Given the description of an element on the screen output the (x, y) to click on. 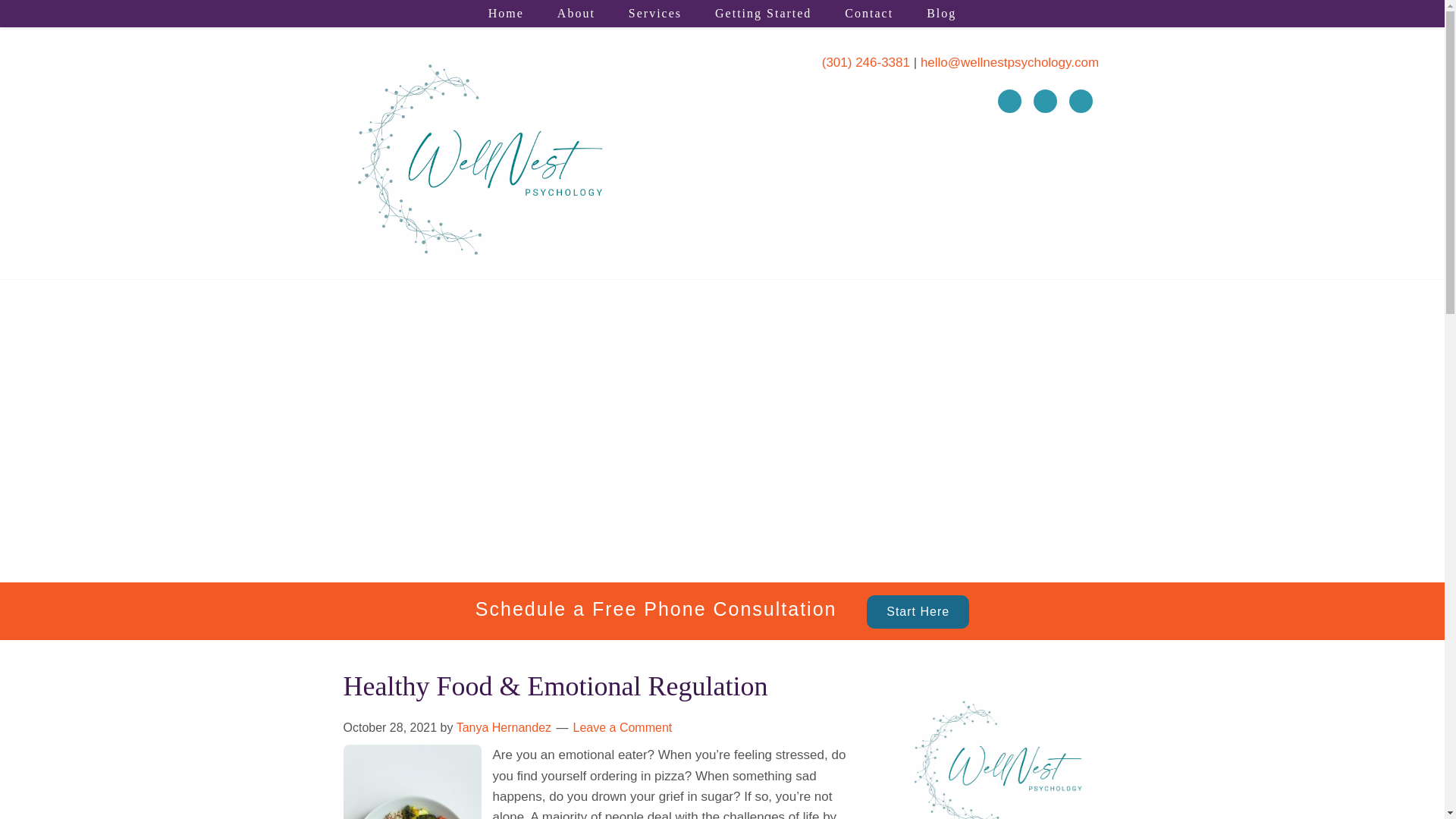
About (575, 13)
Getting Started (763, 13)
Tanya Hernandez (504, 727)
Services (654, 13)
Blog (941, 13)
Leave a Comment (622, 727)
Contact (869, 13)
Home (505, 13)
Start Here (917, 611)
